Given the description of an element on the screen output the (x, y) to click on. 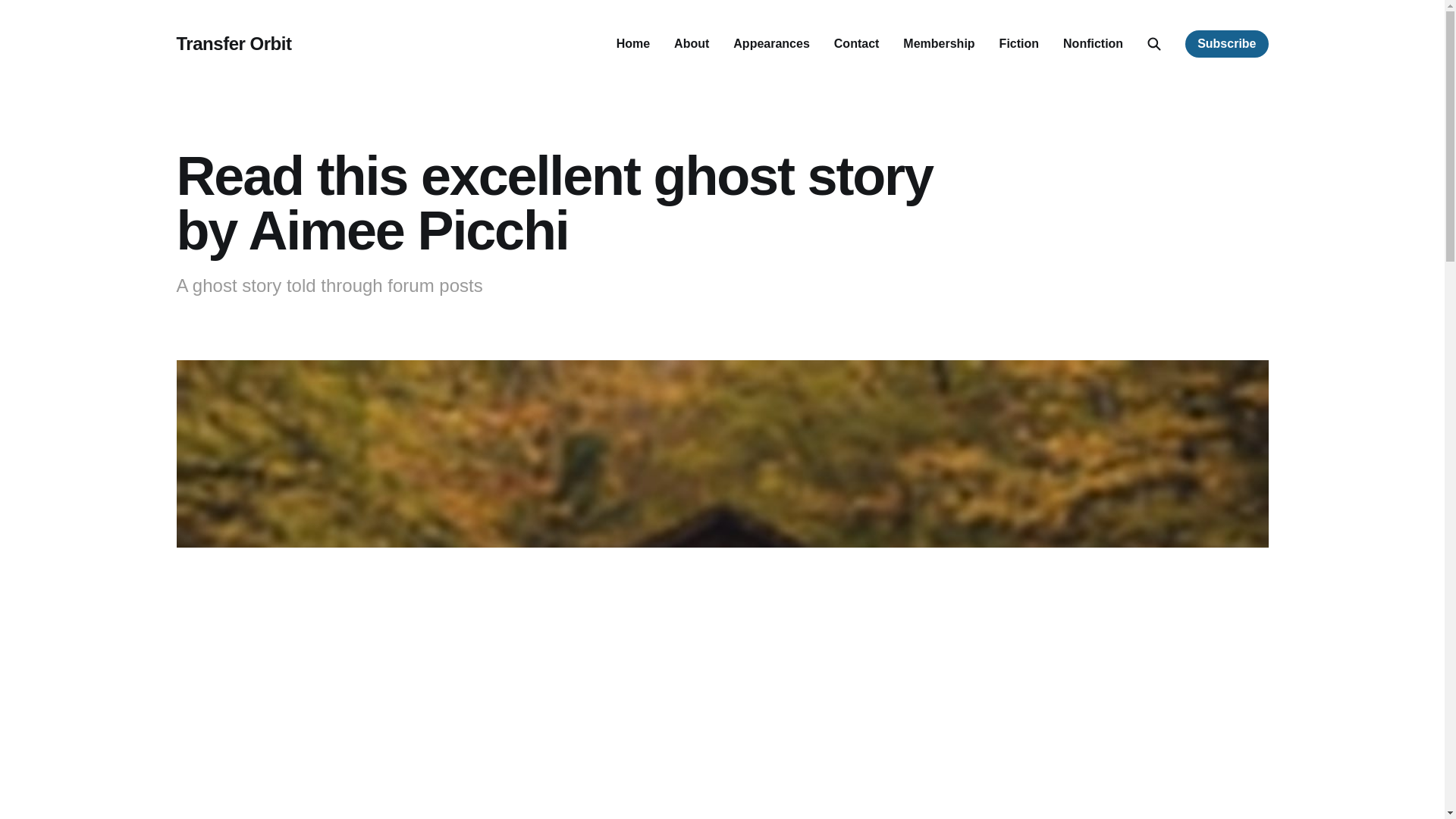
Home (632, 42)
Membership (938, 42)
Appearances (771, 42)
Fiction (1018, 42)
Contact (856, 42)
Nonfiction (1092, 42)
Subscribe (1226, 43)
About (691, 42)
Transfer Orbit (233, 44)
